Given the description of an element on the screen output the (x, y) to click on. 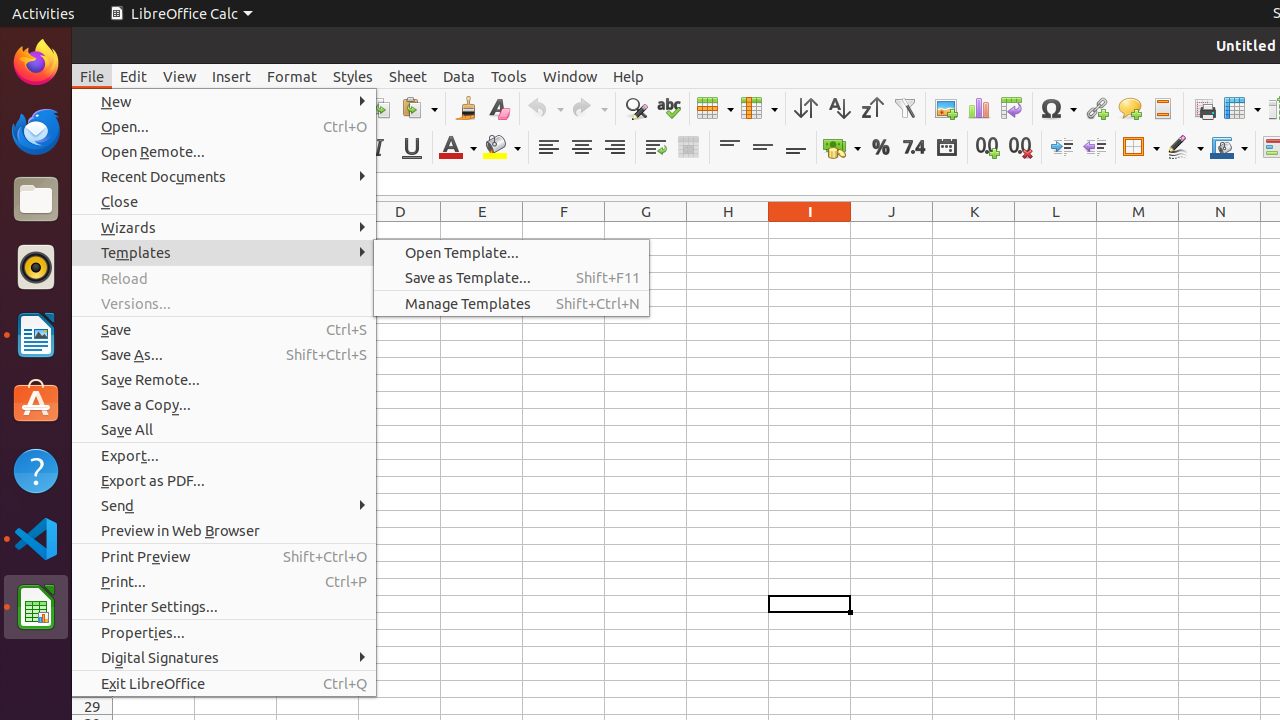
Freeze Rows and Columns Element type: push-button (1242, 108)
Window Element type: menu (570, 76)
Sheet Element type: menu (408, 76)
Row Element type: push-button (715, 108)
Close Element type: menu-item (224, 201)
